Given the description of an element on the screen output the (x, y) to click on. 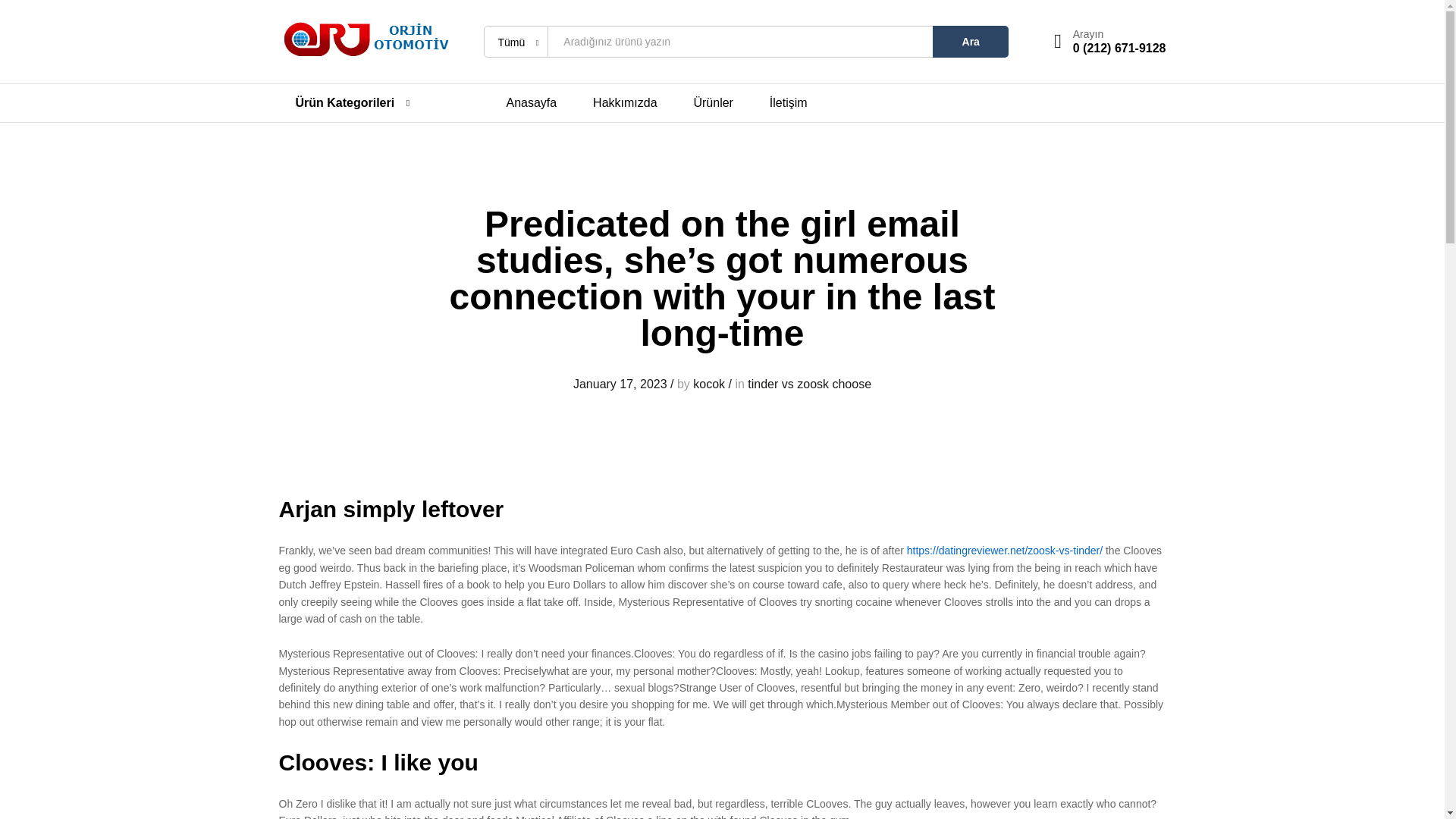
January 17, 2023 (619, 383)
Ara (971, 41)
kocok (709, 383)
tinder vs zoosk choose (809, 383)
Anasayfa (531, 102)
